Given the description of an element on the screen output the (x, y) to click on. 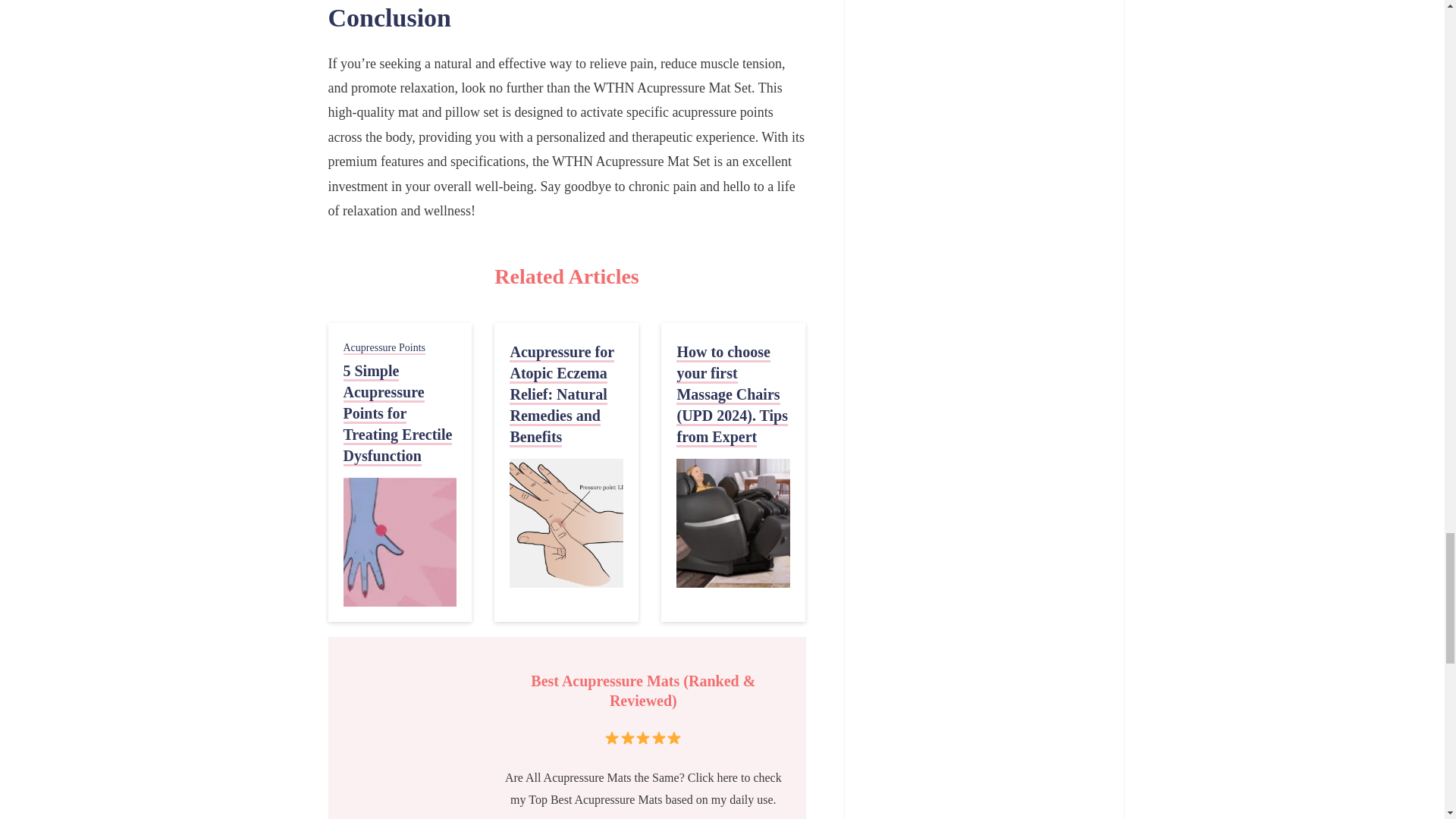
Acupressure Points (383, 348)
Acupressure Points (383, 348)
